Given the description of an element on the screen output the (x, y) to click on. 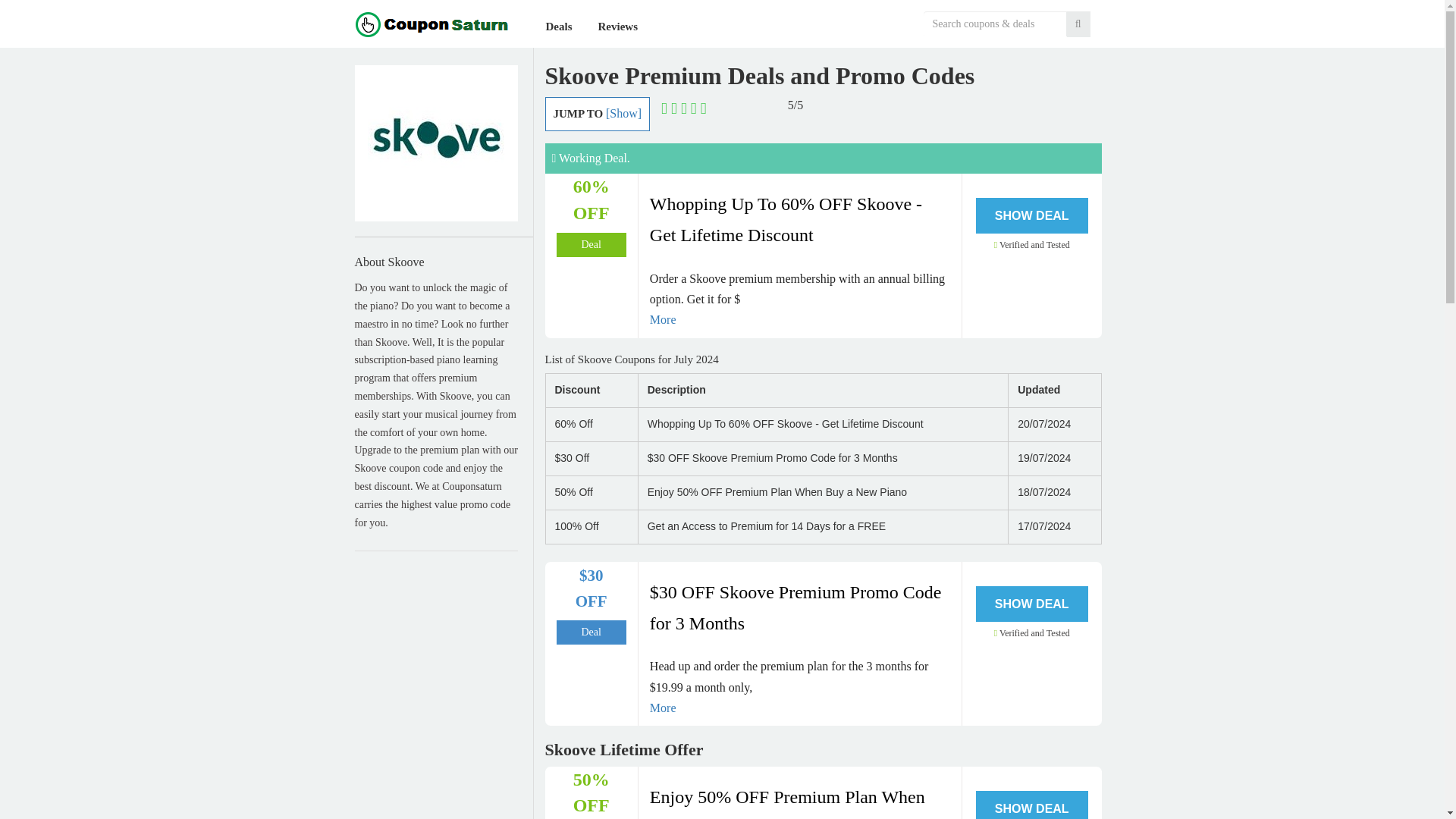
logo (428, 23)
SHOW DEAL (1031, 215)
More (799, 319)
SHOW DEAL (1031, 603)
SHOW DEAL (1031, 805)
Deals (559, 26)
More (799, 707)
Reviews (616, 26)
